Given the description of an element on the screen output the (x, y) to click on. 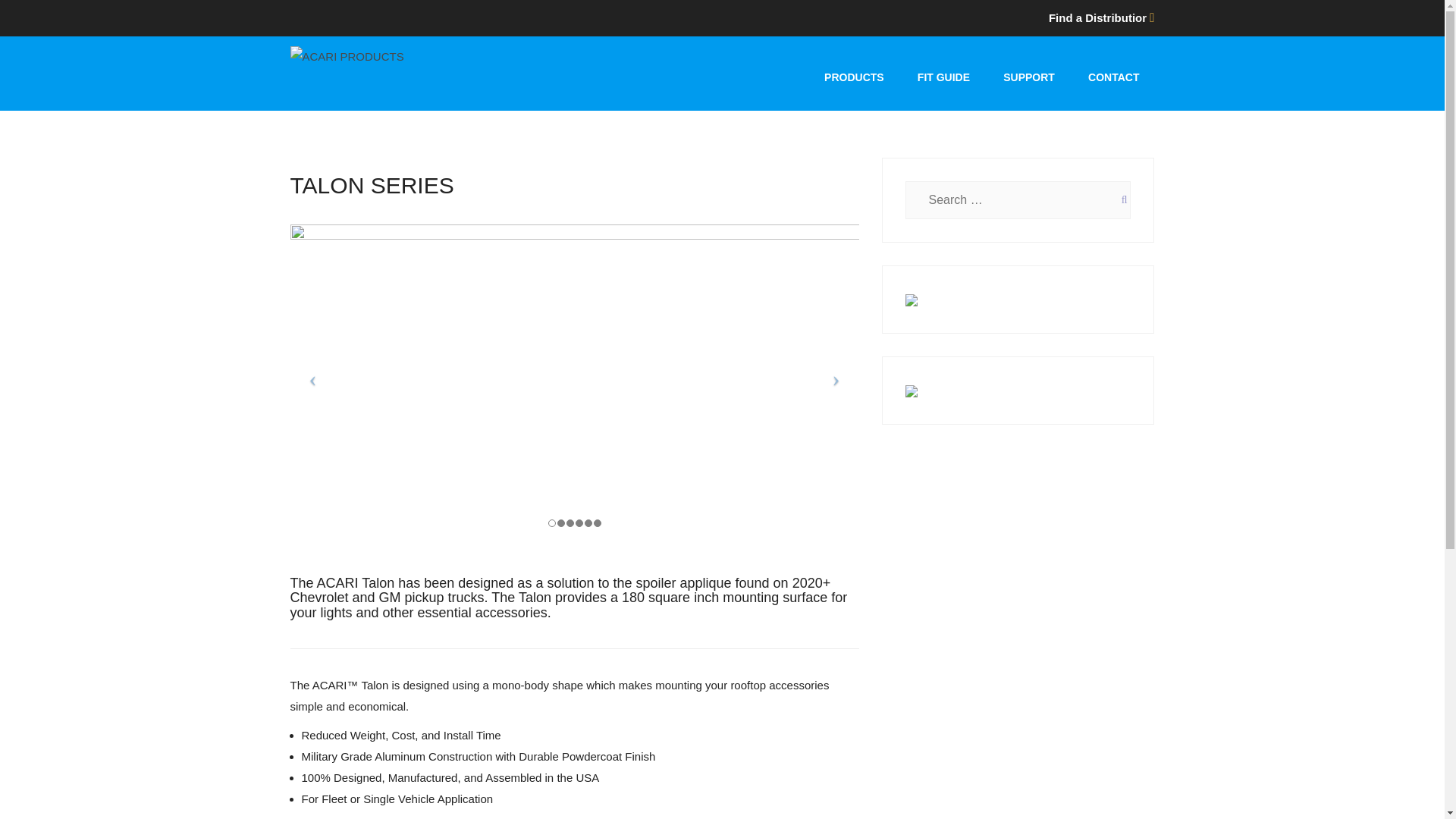
CONTACT (1113, 77)
SUPPORT (1029, 77)
Find a Distributior (1099, 17)
FIT GUIDE (943, 77)
PRODUCTS (854, 77)
